Given the description of an element on the screen output the (x, y) to click on. 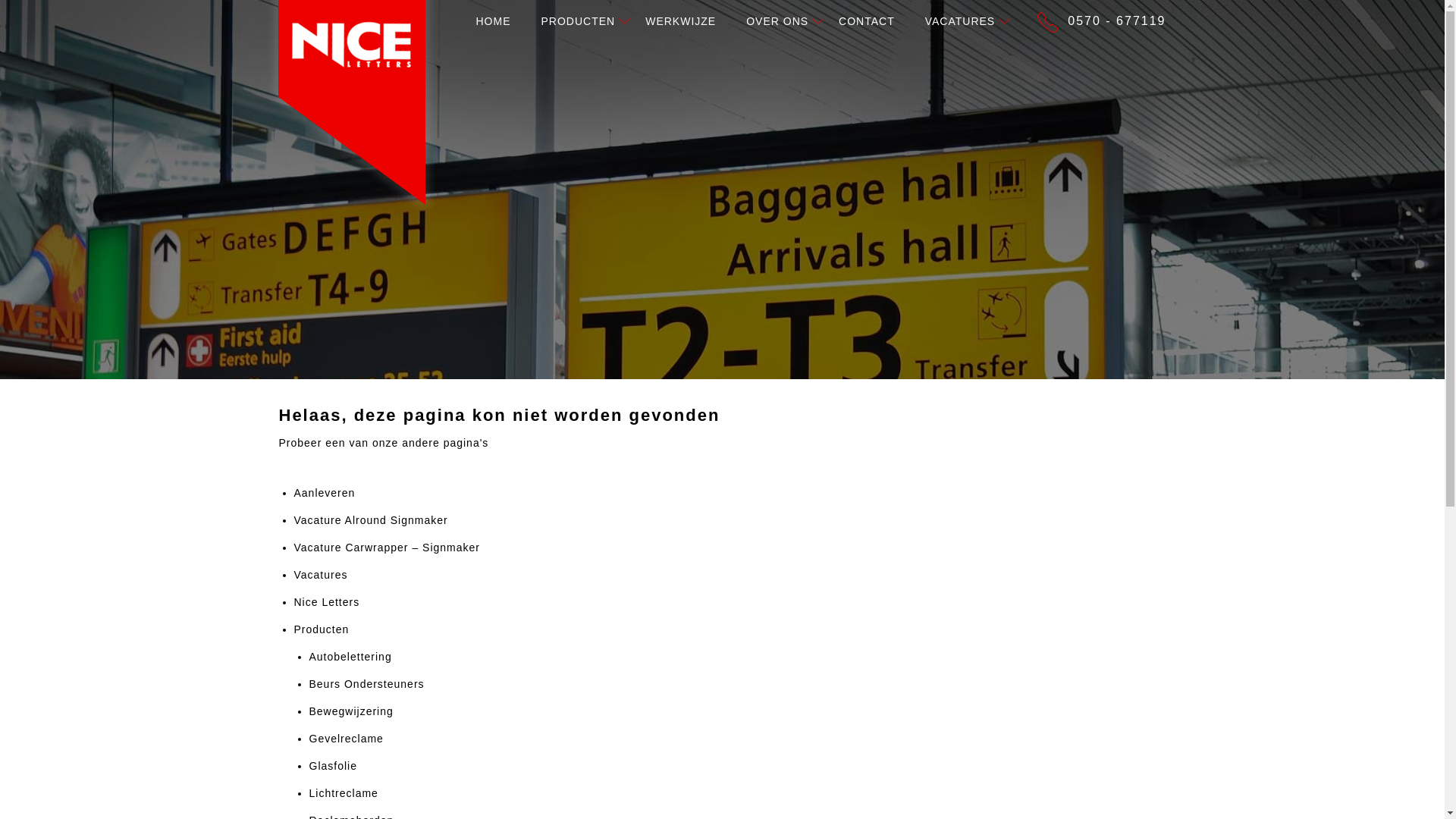
OVER ONS (777, 21)
HOME (493, 21)
Reclameborden (351, 816)
Bewegwijzering (350, 711)
Vacatures (320, 574)
Producten (321, 629)
Gevelreclame (346, 738)
Nice Letters (326, 602)
Glasfolie (332, 766)
Aanleveren (324, 492)
